Given the description of an element on the screen output the (x, y) to click on. 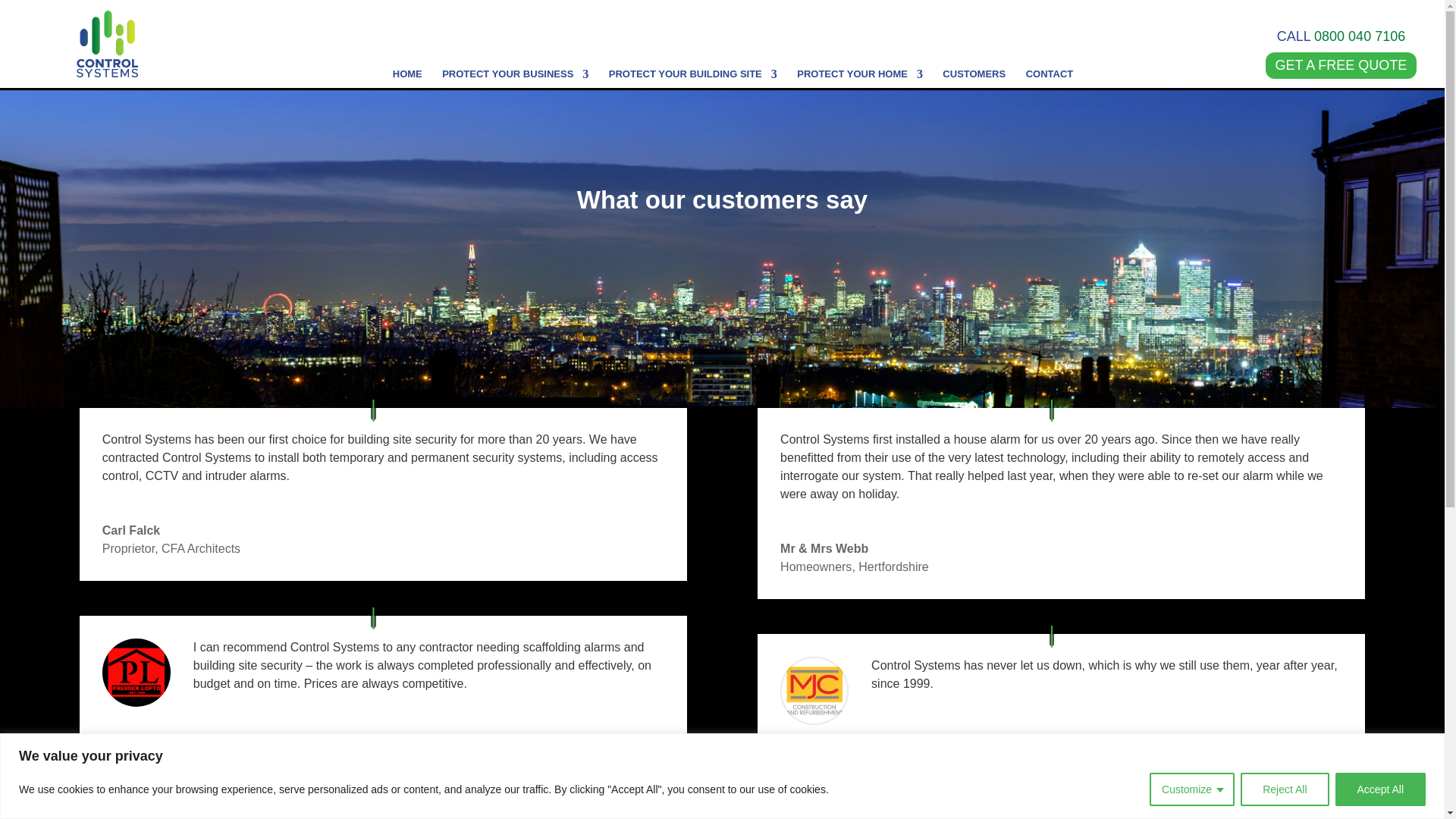
Customize (1192, 788)
PROTECT YOUR BUSINESS (515, 92)
CONTACT (1050, 92)
PROTECT YOUR BUILDING SITE (692, 92)
Accept All (1380, 788)
0800 040 7106 (1359, 36)
CUSTOMERS (974, 92)
PROTECT YOUR HOME (859, 92)
GET A FREE QUOTE (1341, 64)
Reject All (1283, 788)
